Given the description of an element on the screen output the (x, y) to click on. 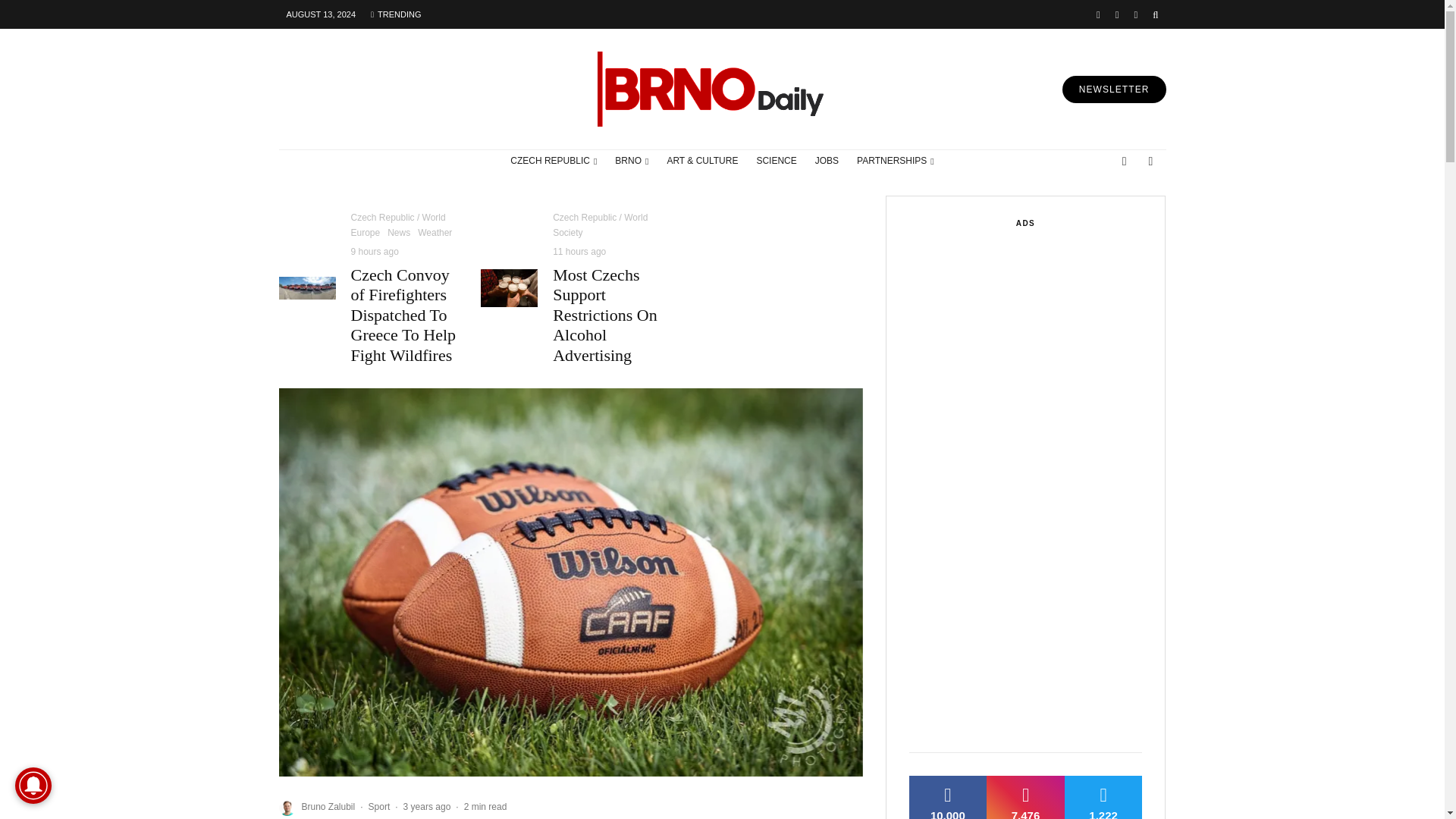
TRENDING (395, 14)
NEWSLETTER (1114, 89)
CZECH REPUBLIC (552, 160)
BRNO (631, 160)
